Given the description of an element on the screen output the (x, y) to click on. 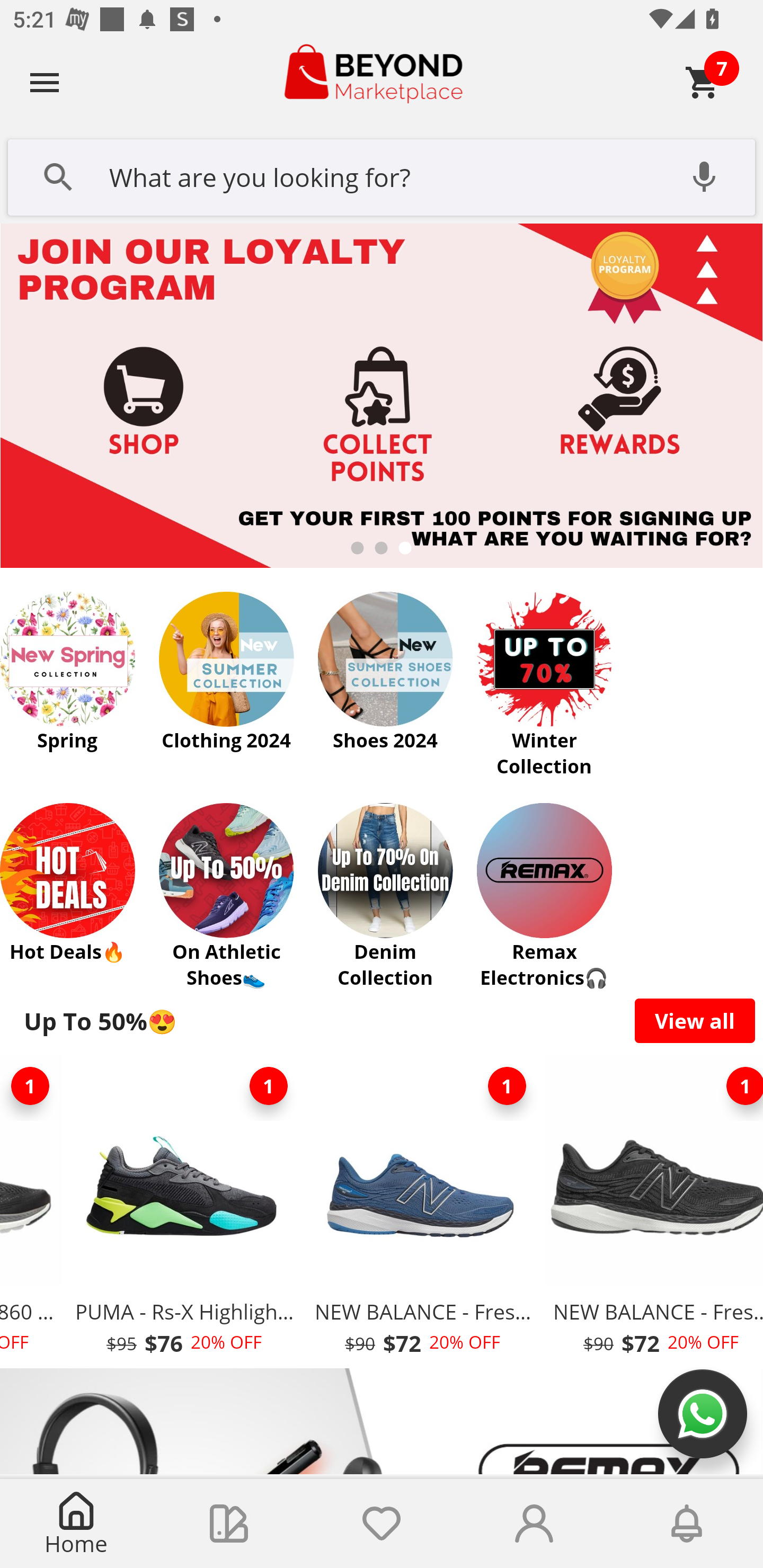
Navigate up (44, 82)
What are you looking for? (381, 175)
View all (694, 1020)
1 (32, 1085)
1 (268, 1085)
1 (506, 1085)
1 (736, 1085)
Collections (228, 1523)
Wishlist (381, 1523)
Account (533, 1523)
Notifications (686, 1523)
